Given the description of an element on the screen output the (x, y) to click on. 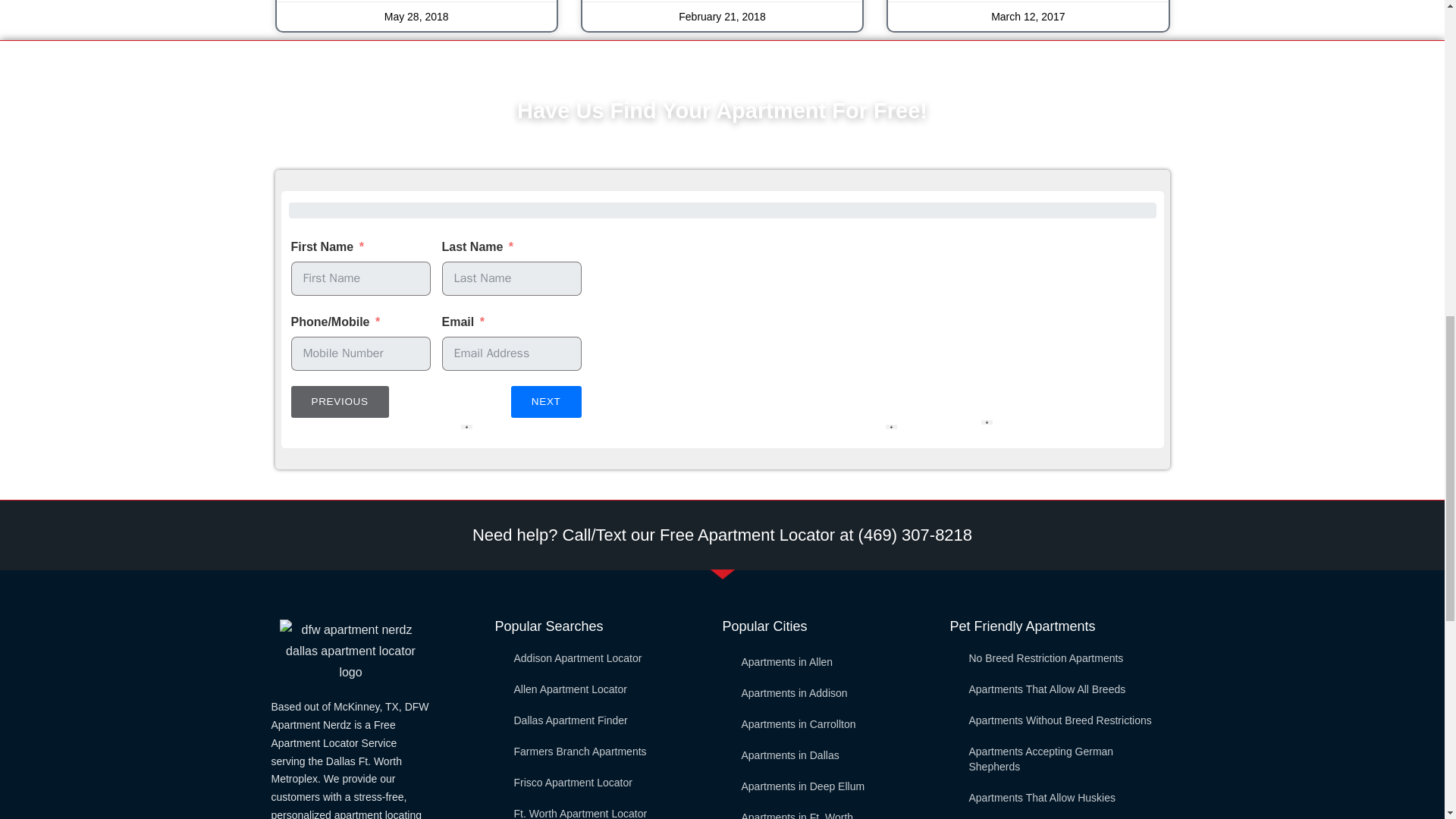
NEXT (943, 623)
yes (479, 532)
no (526, 462)
yes (479, 462)
yes (296, 462)
NEXT (545, 401)
PREVIOUS (339, 558)
no (526, 532)
no (296, 488)
NEXT (424, 558)
